Given the description of an element on the screen output the (x, y) to click on. 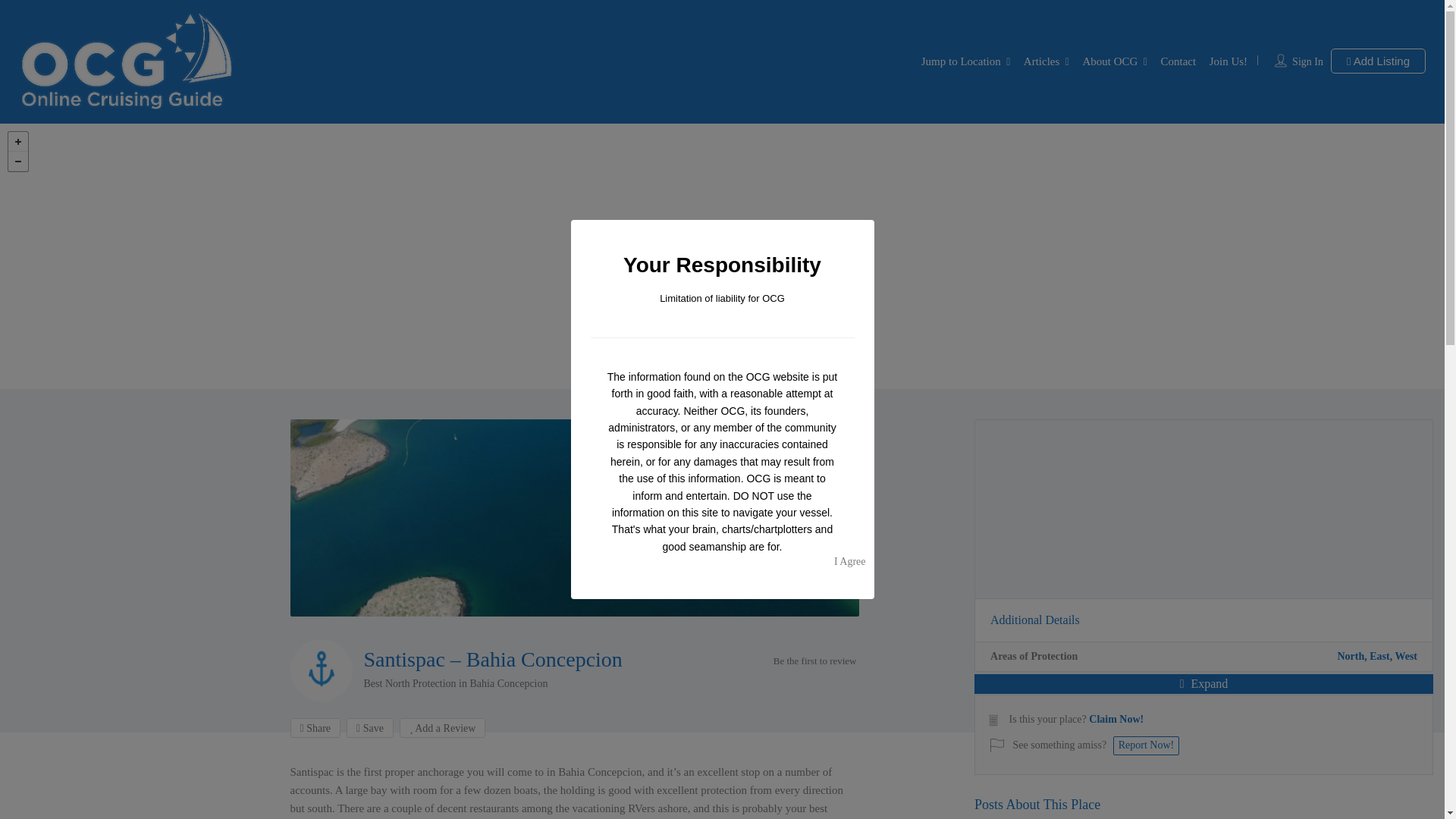
Zoom out (17, 161)
Zoom in (17, 141)
